Given the description of an element on the screen output the (x, y) to click on. 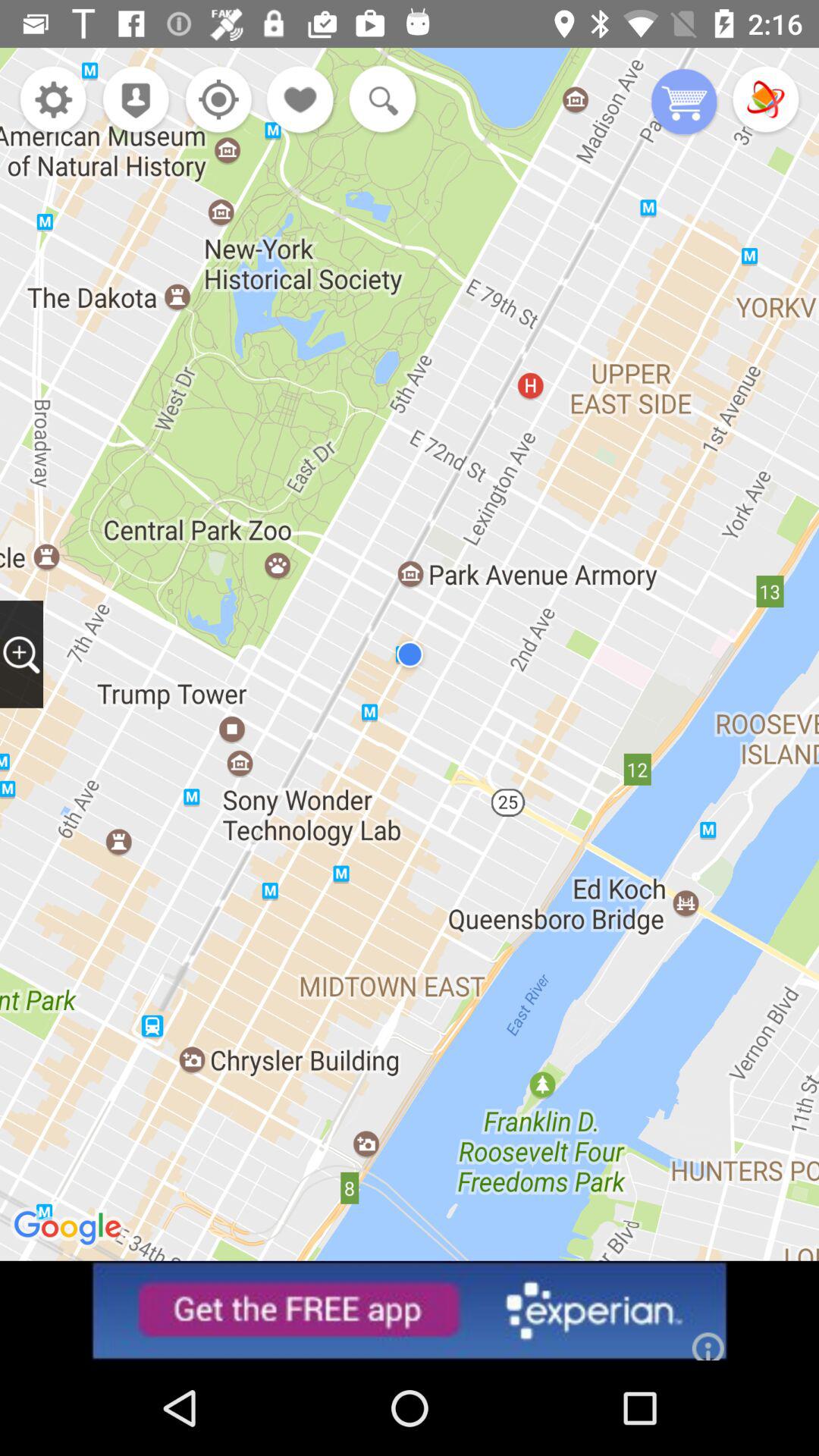
go to current user location (214, 101)
